Given the description of an element on the screen output the (x, y) to click on. 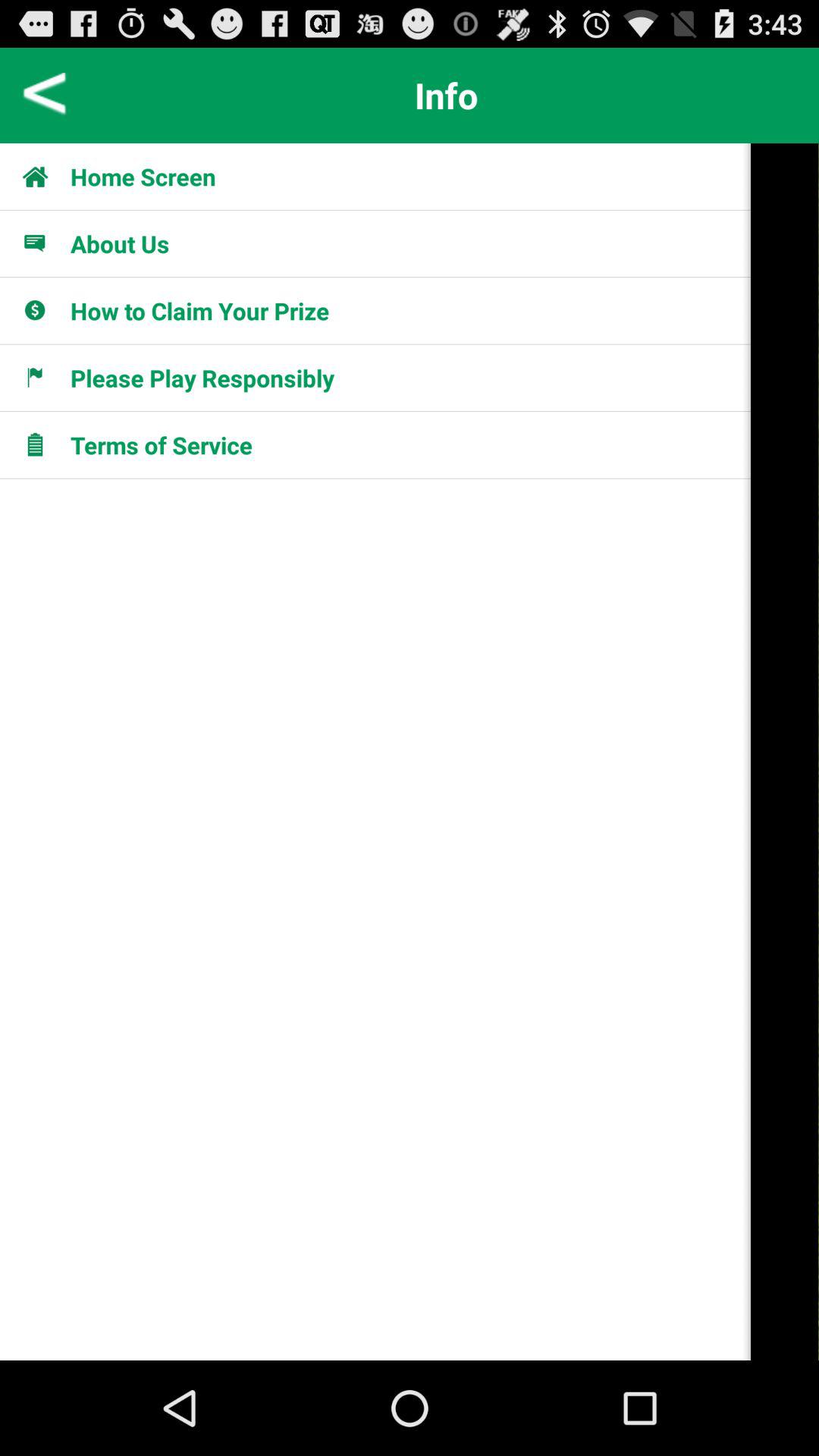
tap icon below info app (143, 176)
